Given the description of an element on the screen output the (x, y) to click on. 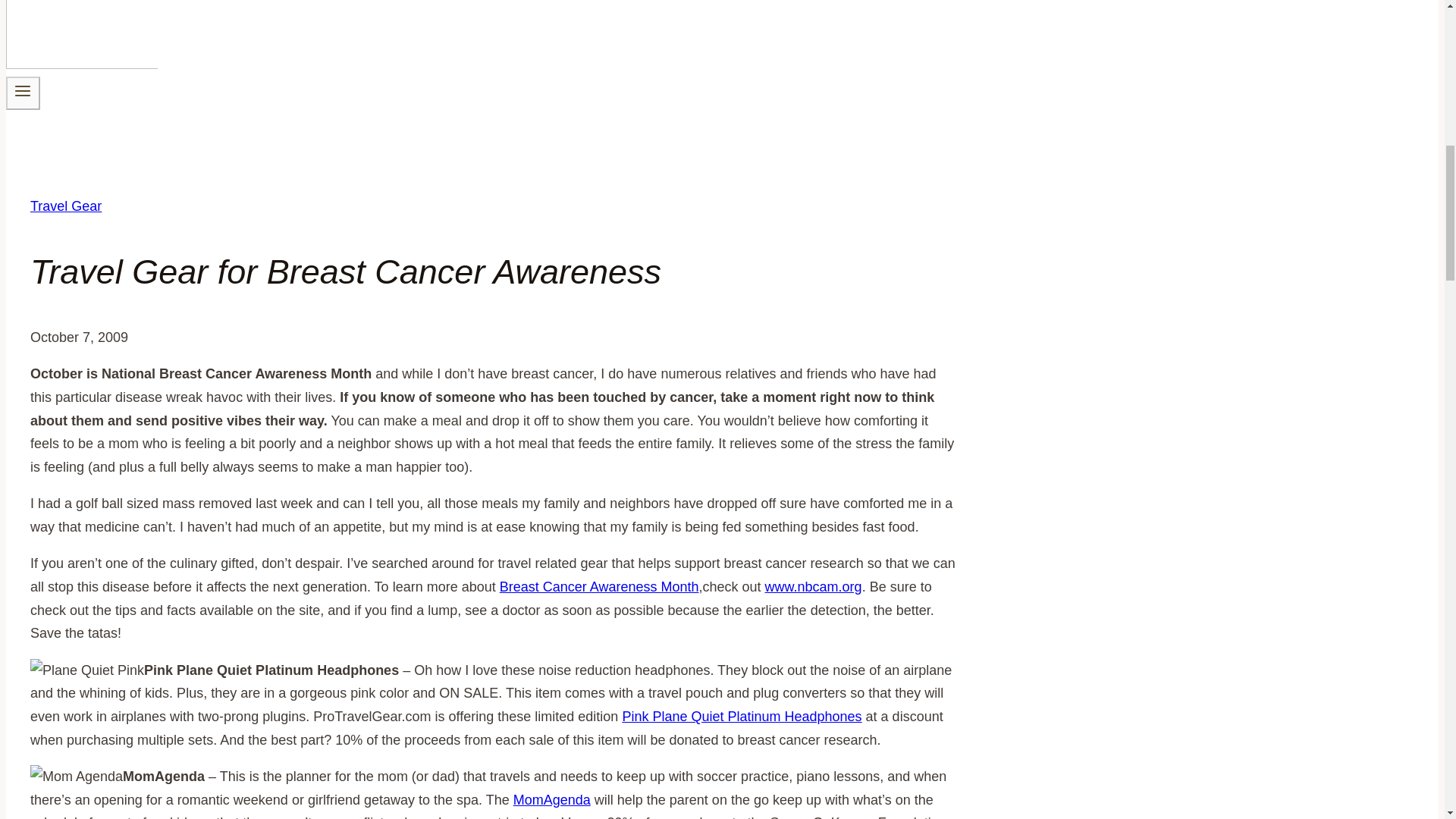
Mom Agenda (76, 776)
TOGGLE MENU (22, 90)
MomAgenda (552, 799)
Pink Plane Quiet Platinum Headphones (741, 716)
TOGGLE MENU (22, 92)
www.nbcam.org (813, 586)
Breast Cancer Awareness Month (598, 586)
Travel Gear (65, 206)
Plane Quiet Pink (87, 670)
